Given the description of an element on the screen output the (x, y) to click on. 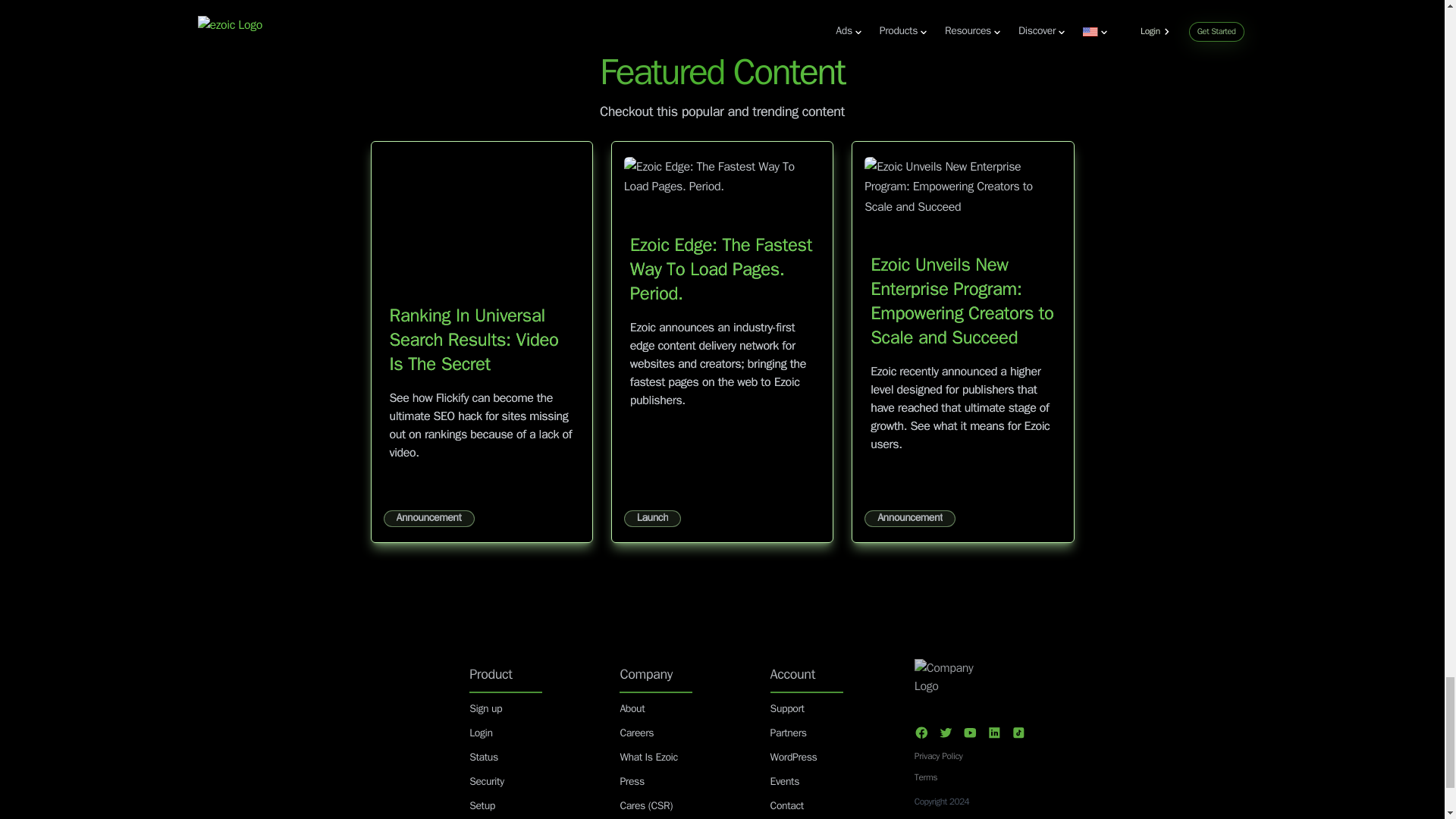
Ezoic Edge: The Fastest Way To Load Pages. Period. (721, 269)
Ranking In Universal Search Results: Video Is The Secret (474, 339)
